Given the description of an element on the screen output the (x, y) to click on. 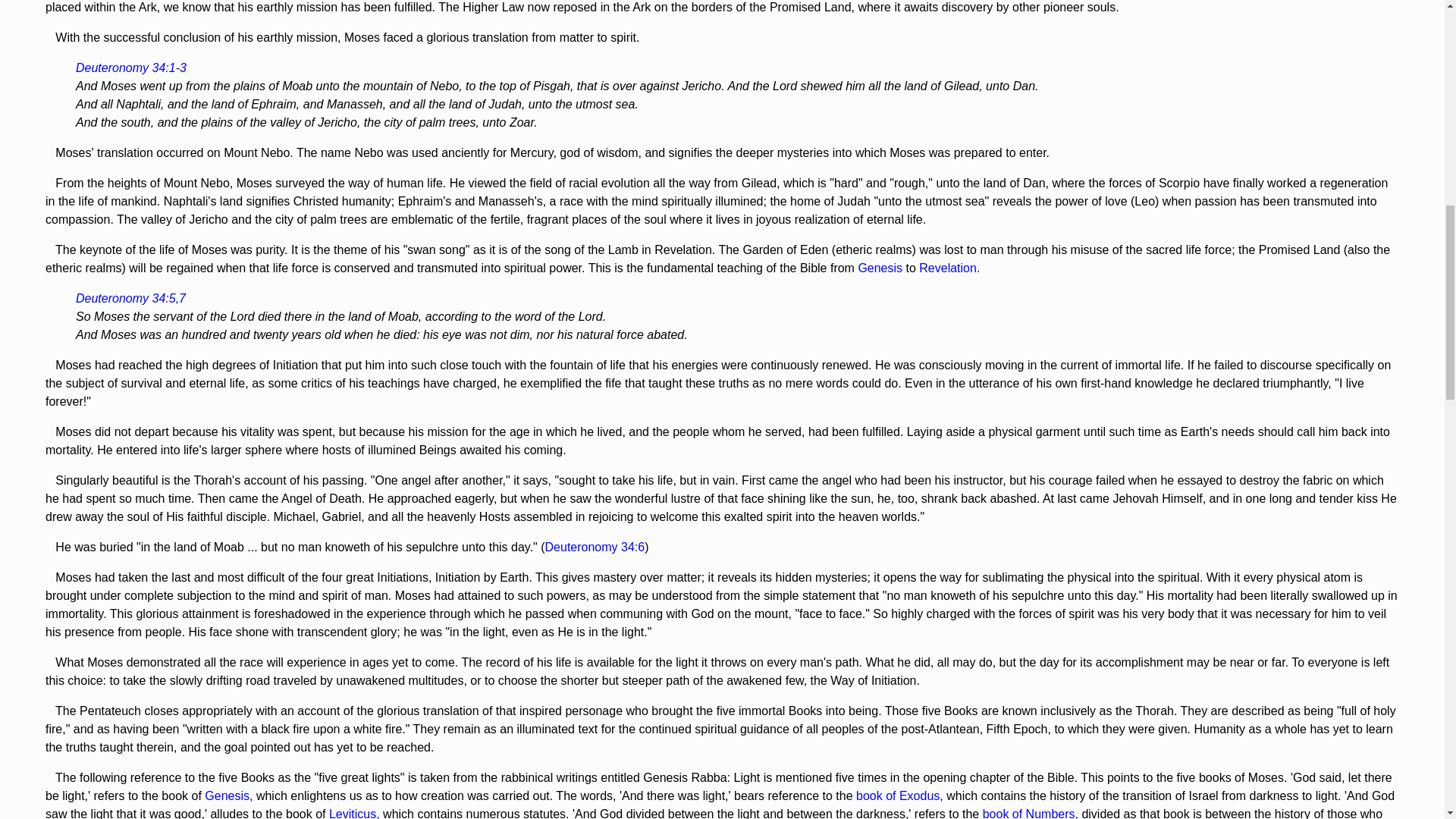
Deuteronomy 34:1-3 (130, 67)
book of Numbers, (1030, 813)
Genesis (879, 267)
book of Exodus, (899, 795)
Deuteronomy 34:6 (594, 546)
Revelation. (948, 267)
Genesis, (228, 795)
Deuteronomy 34:5,7 (130, 297)
Leviticus, (354, 813)
